Given the description of an element on the screen output the (x, y) to click on. 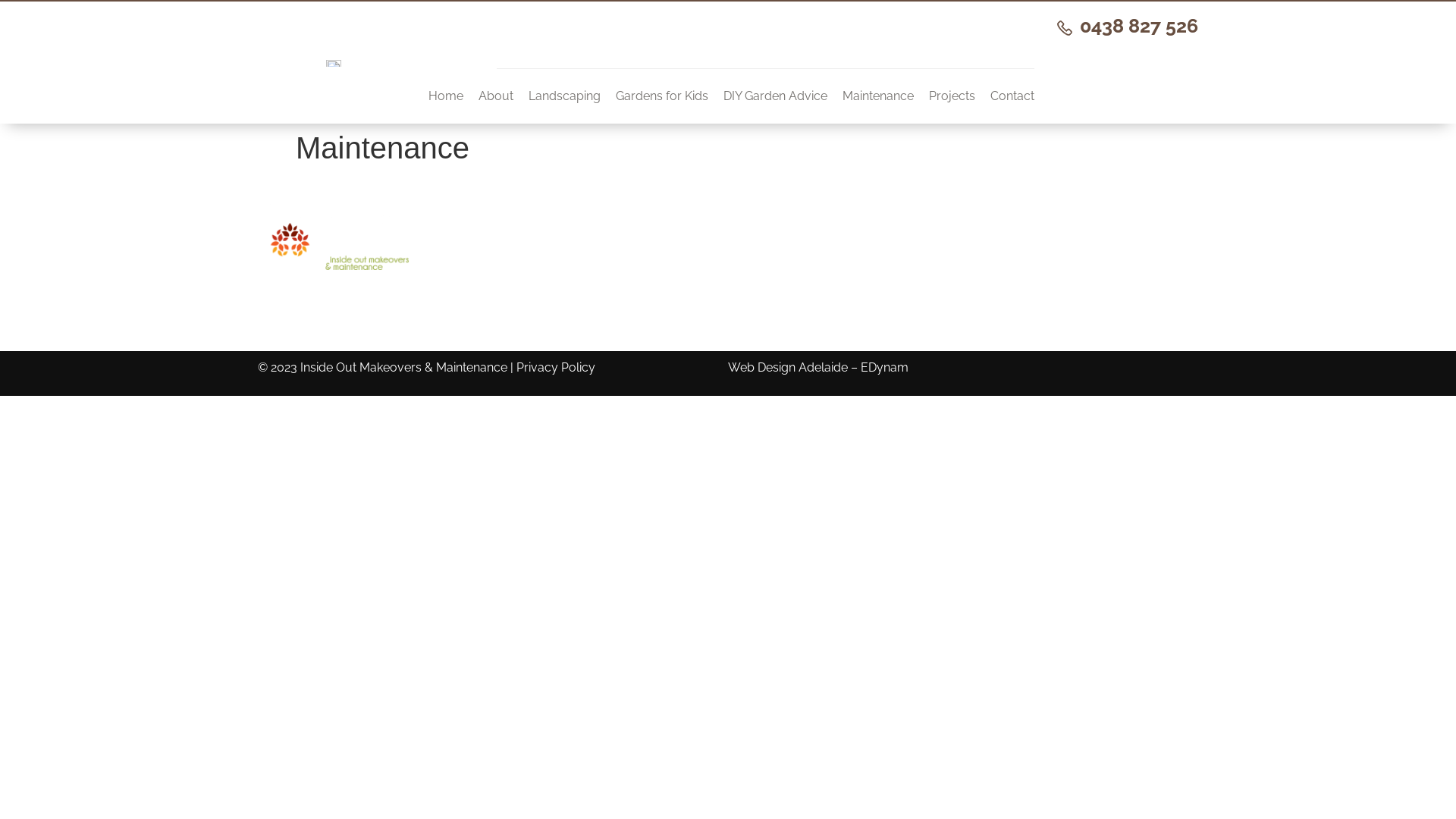
About Element type: text (495, 95)
Instagram Element type: text (1104, 274)
Projects Element type: text (951, 95)
Gardens for Kids Element type: text (869, 274)
Contact Element type: text (1012, 95)
Plant Advice & Supply for Garden DIY Element type: text (869, 297)
Maintenance Element type: text (877, 95)
Privacy Policy Element type: text (555, 367)
Contact Us Element type: text (633, 297)
Facebook Element type: text (1104, 252)
Home Element type: text (445, 95)
DIY Garden Advice Element type: text (775, 95)
About Element type: text (633, 274)
Home Element type: text (633, 252)
0438 827 526 Element type: text (1127, 25)
Gardens for Kids Element type: text (661, 95)
Landscaping Element type: text (564, 95)
Landscaping Adelaide Element type: text (869, 252)
Maintenance Element type: text (869, 320)
